Given the description of an element on the screen output the (x, y) to click on. 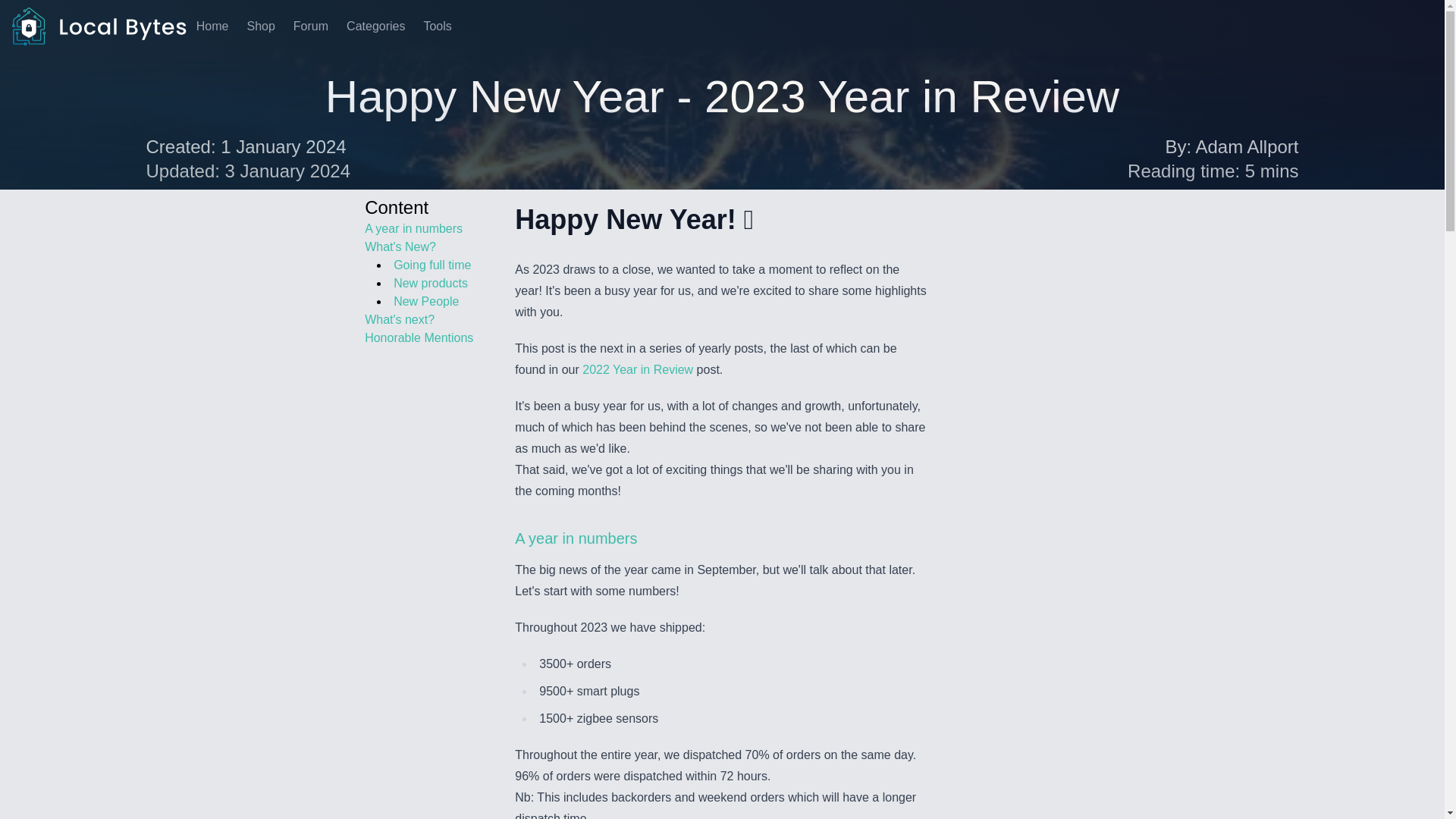
Going full time (431, 264)
What's next? (399, 318)
New products (430, 282)
What's New? (400, 246)
New People (425, 300)
Shop (260, 26)
Honorable Mentions (419, 337)
Home (212, 26)
Forum (310, 26)
A year in numbers (414, 228)
